Given the description of an element on the screen output the (x, y) to click on. 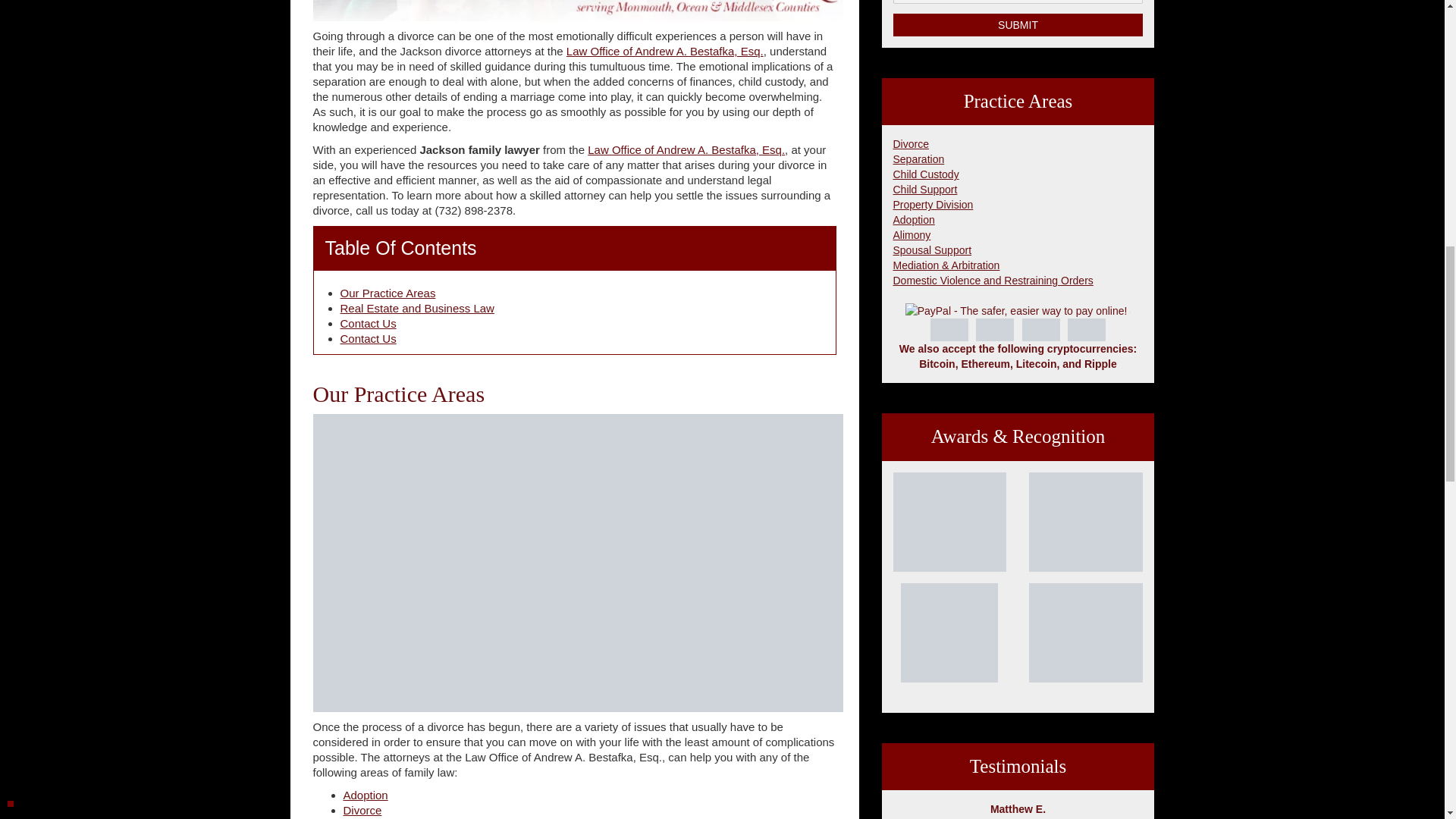
Property Division (933, 204)
Submit (1017, 24)
Divorce (361, 809)
Law Office of Andrew A. Bestafka, Esq. (686, 149)
Child Custody (926, 174)
Divorce (910, 143)
Contact Us (367, 338)
Adoption (913, 219)
Adoption (364, 794)
Separation (918, 159)
Our Practice Areas (387, 292)
Submit (1017, 24)
Child Support (925, 189)
Contact Us (367, 323)
Alimony (912, 234)
